Given the description of an element on the screen output the (x, y) to click on. 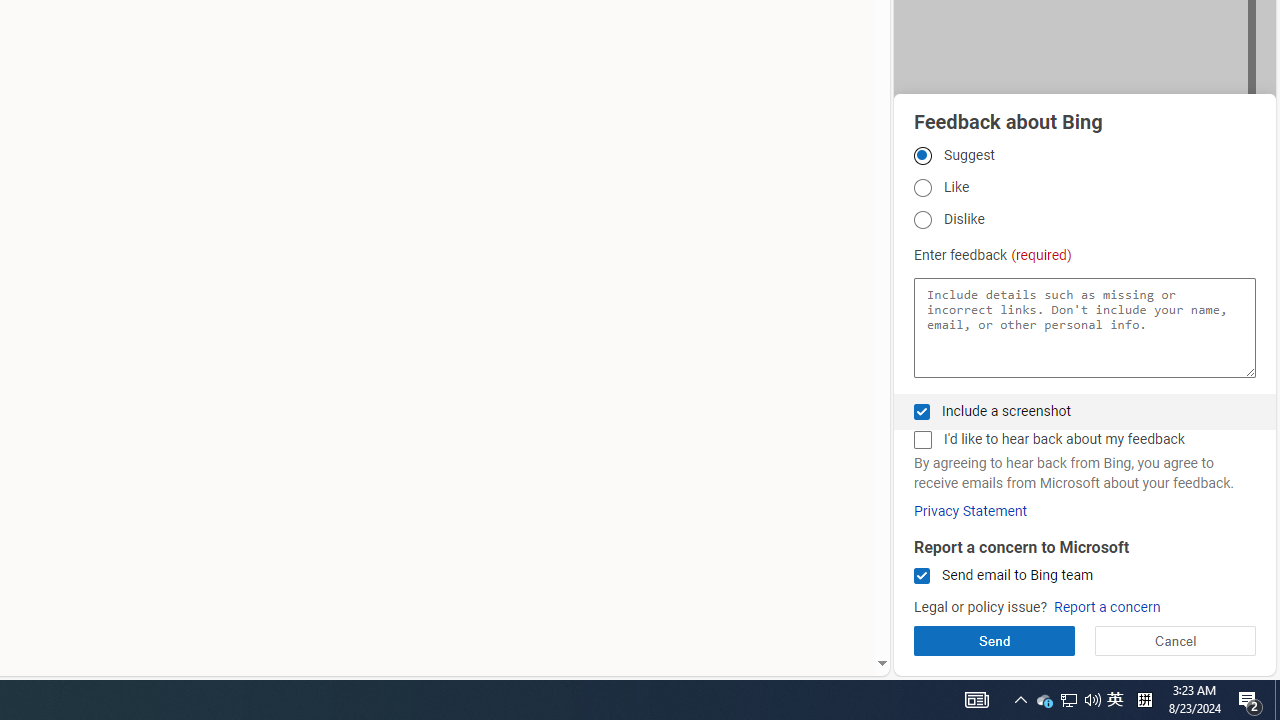
Like (922, 188)
Privacy Statement (970, 511)
I'd like to hear back about my feedback (922, 440)
Cancel (1174, 640)
Send (994, 640)
Send email to Bing team (921, 575)
Suggest (922, 155)
Include a screenshot (921, 411)
Report a concern (1106, 607)
